Given the description of an element on the screen output the (x, y) to click on. 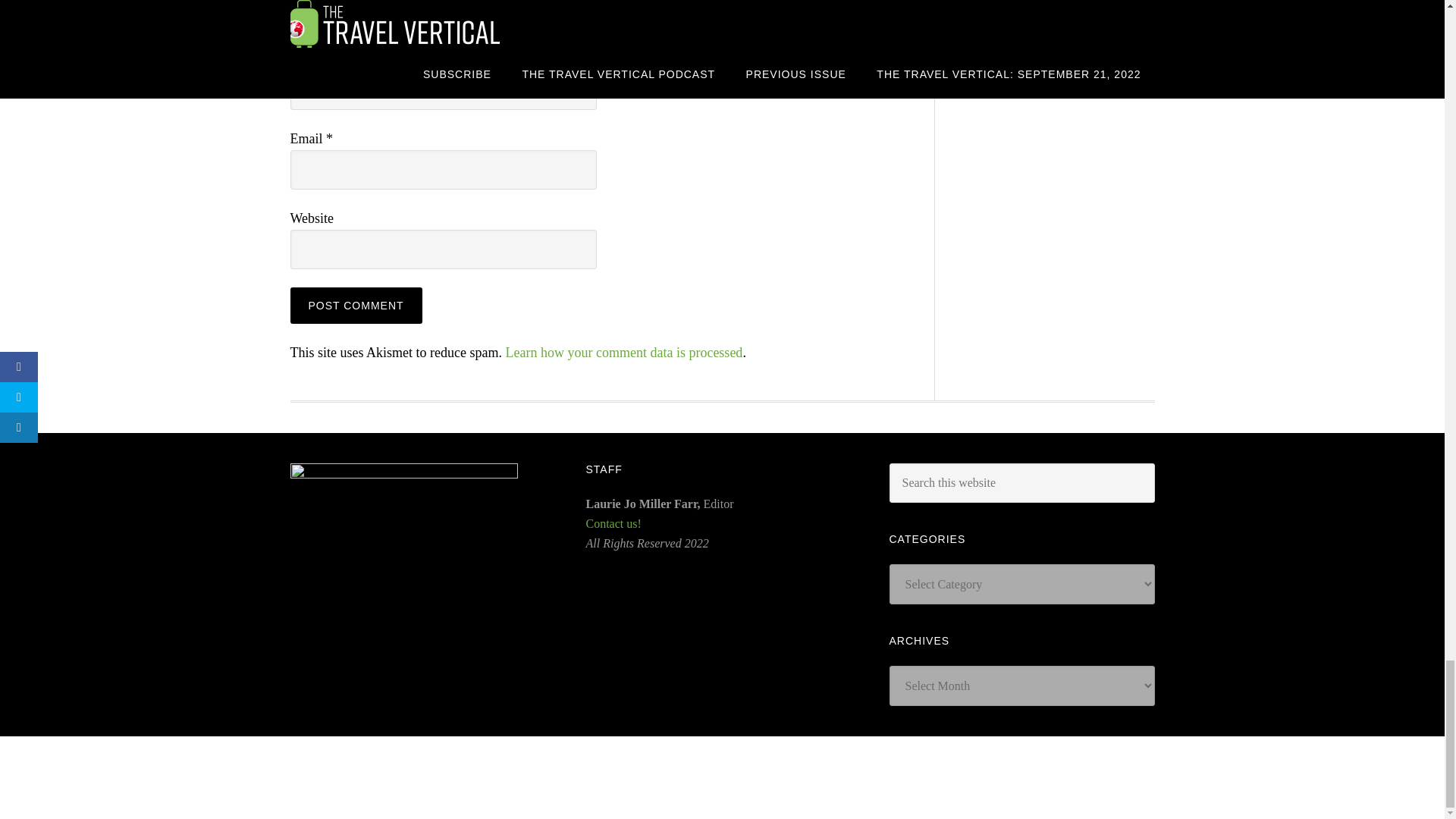
Post Comment (355, 305)
Learn how your comment data is processed (623, 352)
Contact us! (612, 522)
Post Comment (355, 305)
